Given the description of an element on the screen output the (x, y) to click on. 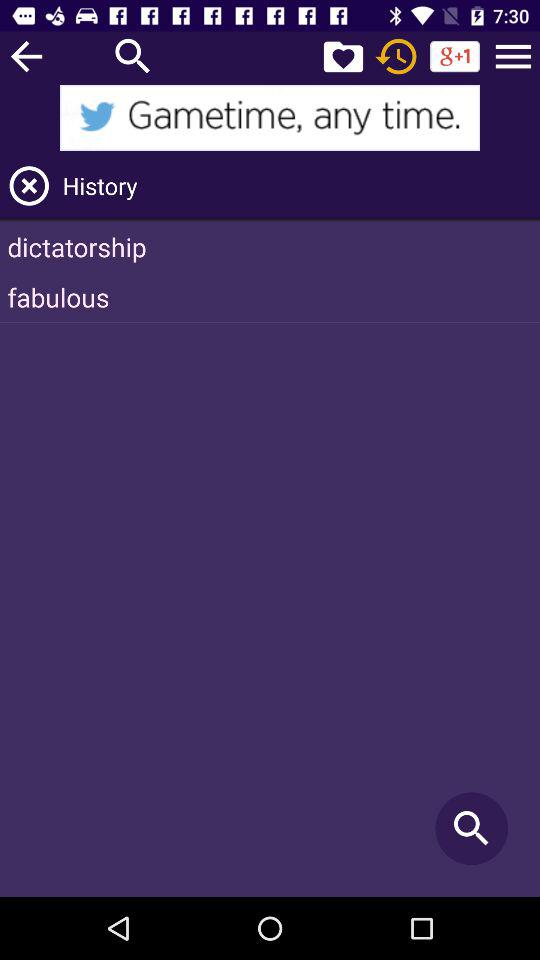
put in favorites (343, 56)
